Given the description of an element on the screen output the (x, y) to click on. 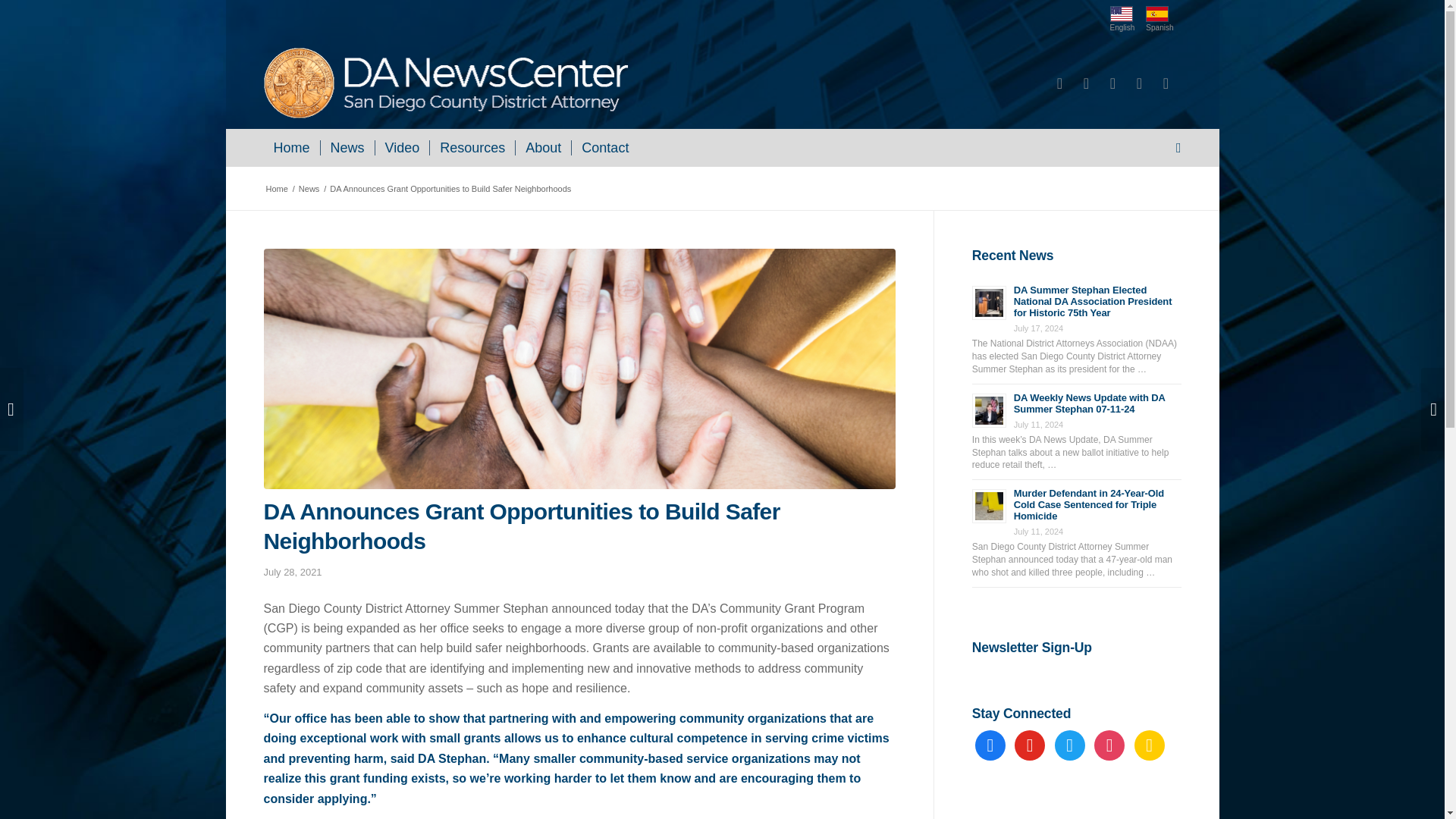
Contact (604, 147)
About (542, 147)
Video (401, 147)
Resources (472, 147)
Home (276, 188)
DA NewsCenter (276, 188)
News (309, 188)
Home (291, 147)
News (347, 147)
